Given the description of an element on the screen output the (x, y) to click on. 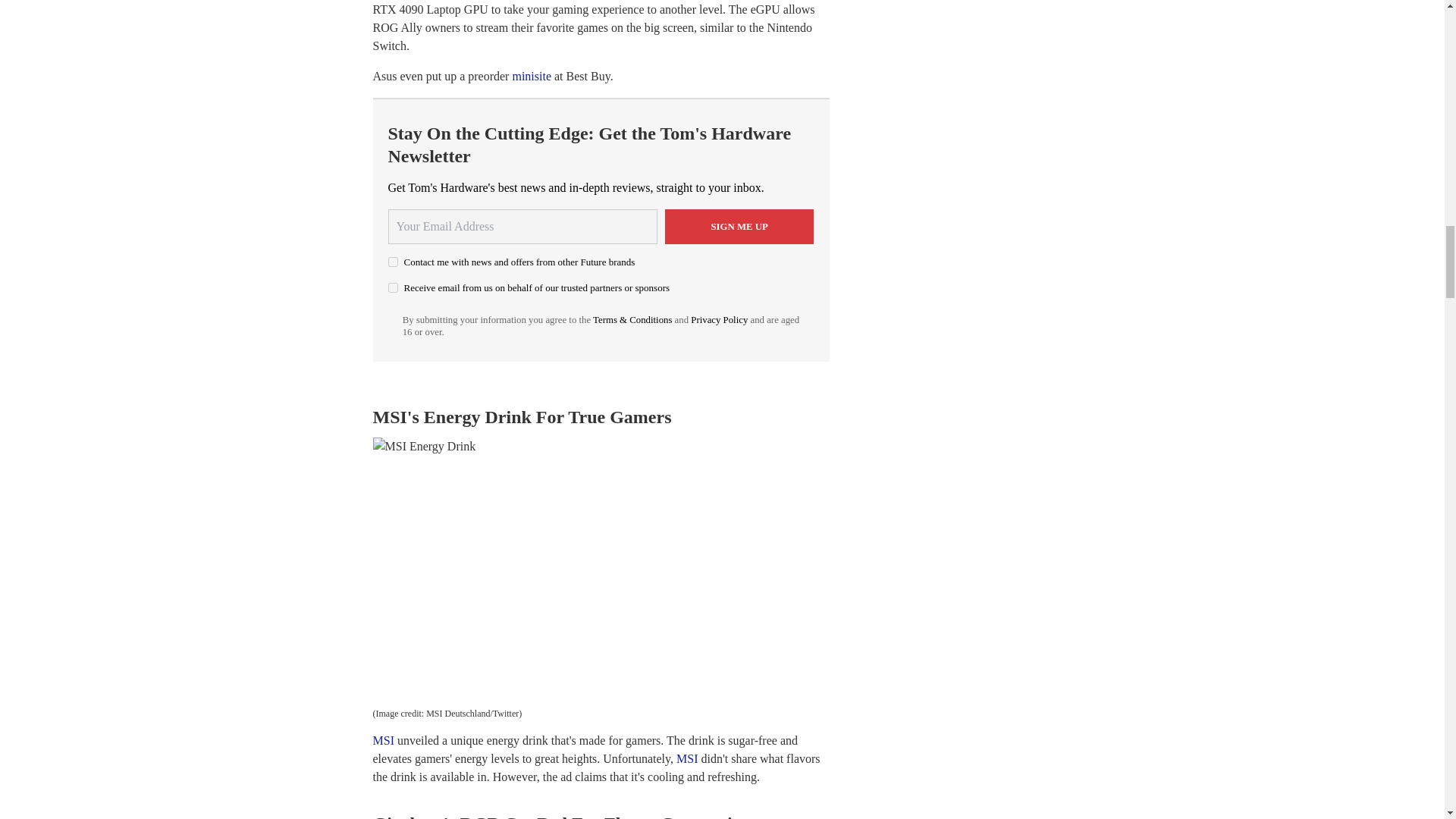
on (392, 261)
Sign me up (739, 226)
on (392, 287)
